Given the description of an element on the screen output the (x, y) to click on. 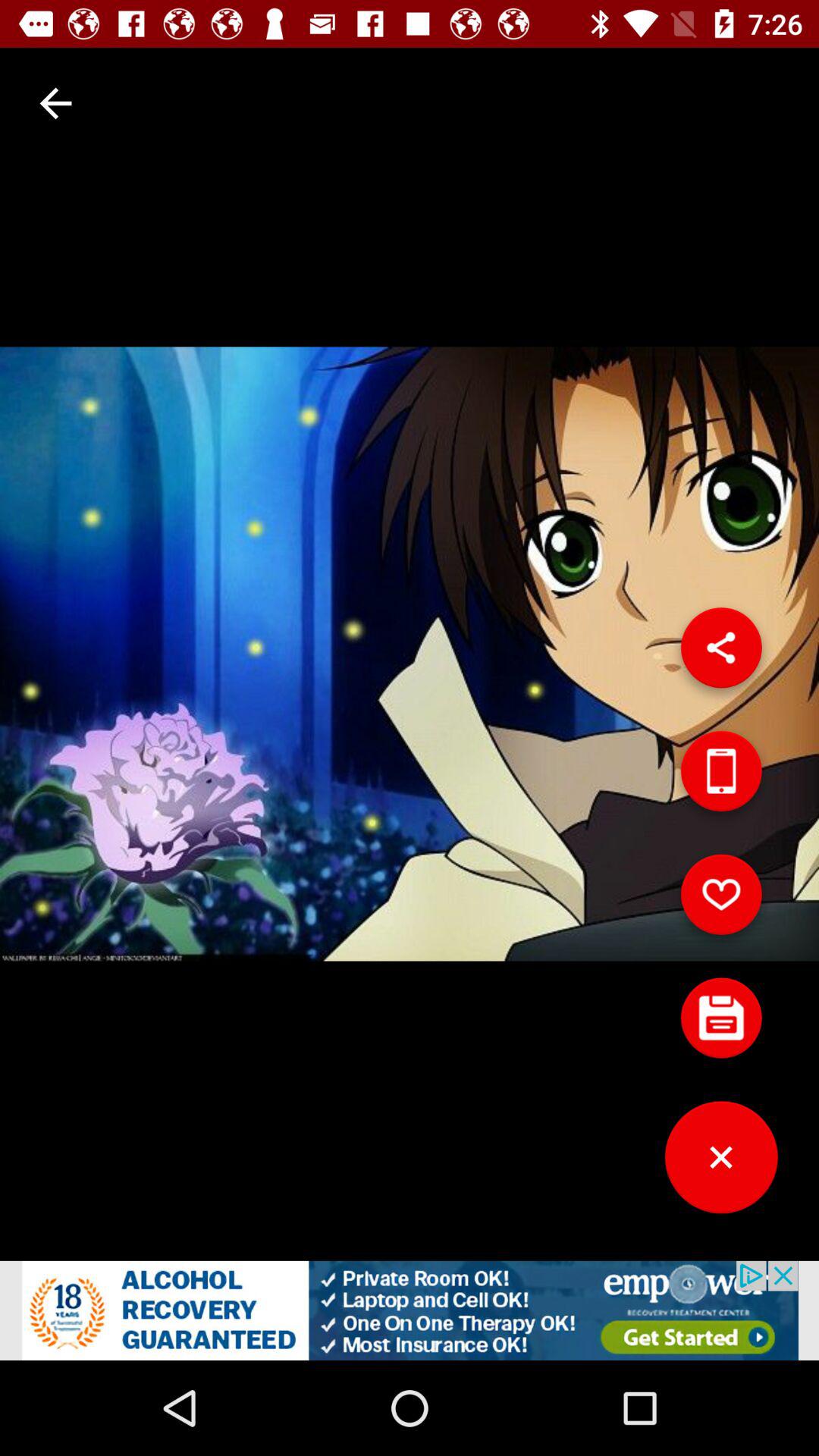
selfe button (721, 776)
